Given the description of an element on the screen output the (x, y) to click on. 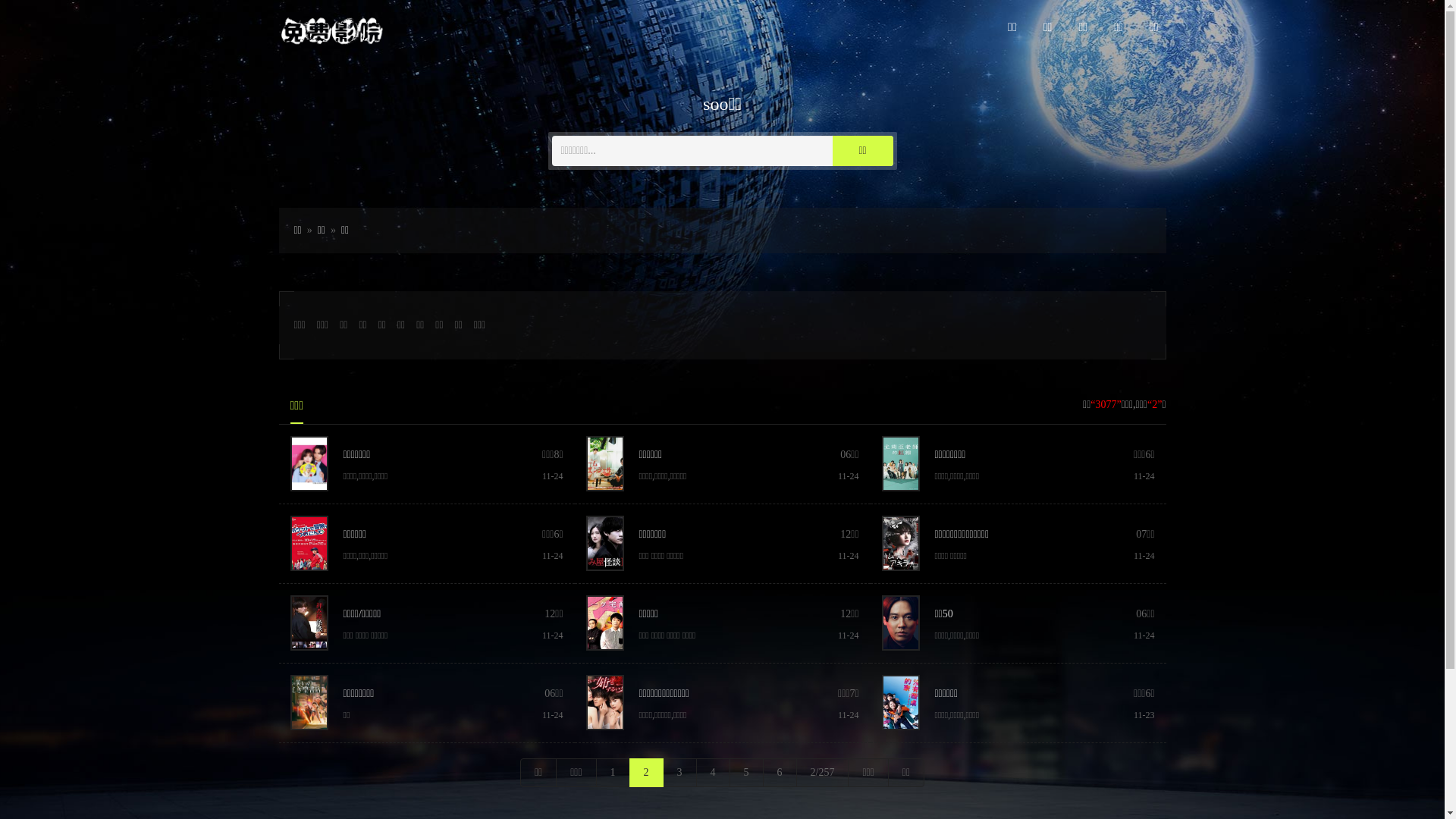
5 Element type: text (746, 772)
4 Element type: text (713, 772)
6 Element type: text (779, 772)
3 Element type: text (679, 772)
2 Element type: text (646, 772)
1 Element type: text (613, 772)
